Given the description of an element on the screen output the (x, y) to click on. 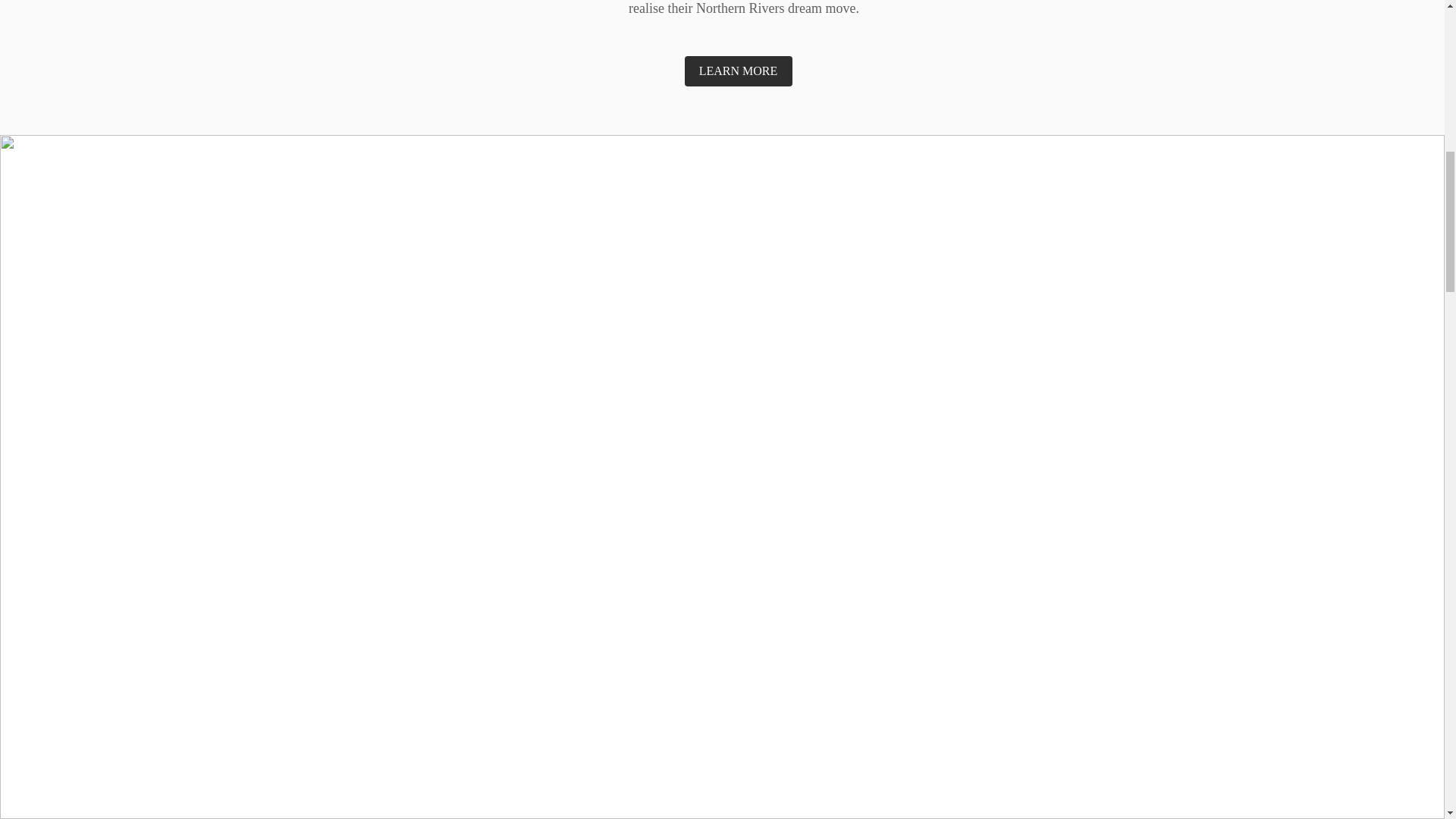
LEARN MORE (738, 71)
